Given the description of an element on the screen output the (x, y) to click on. 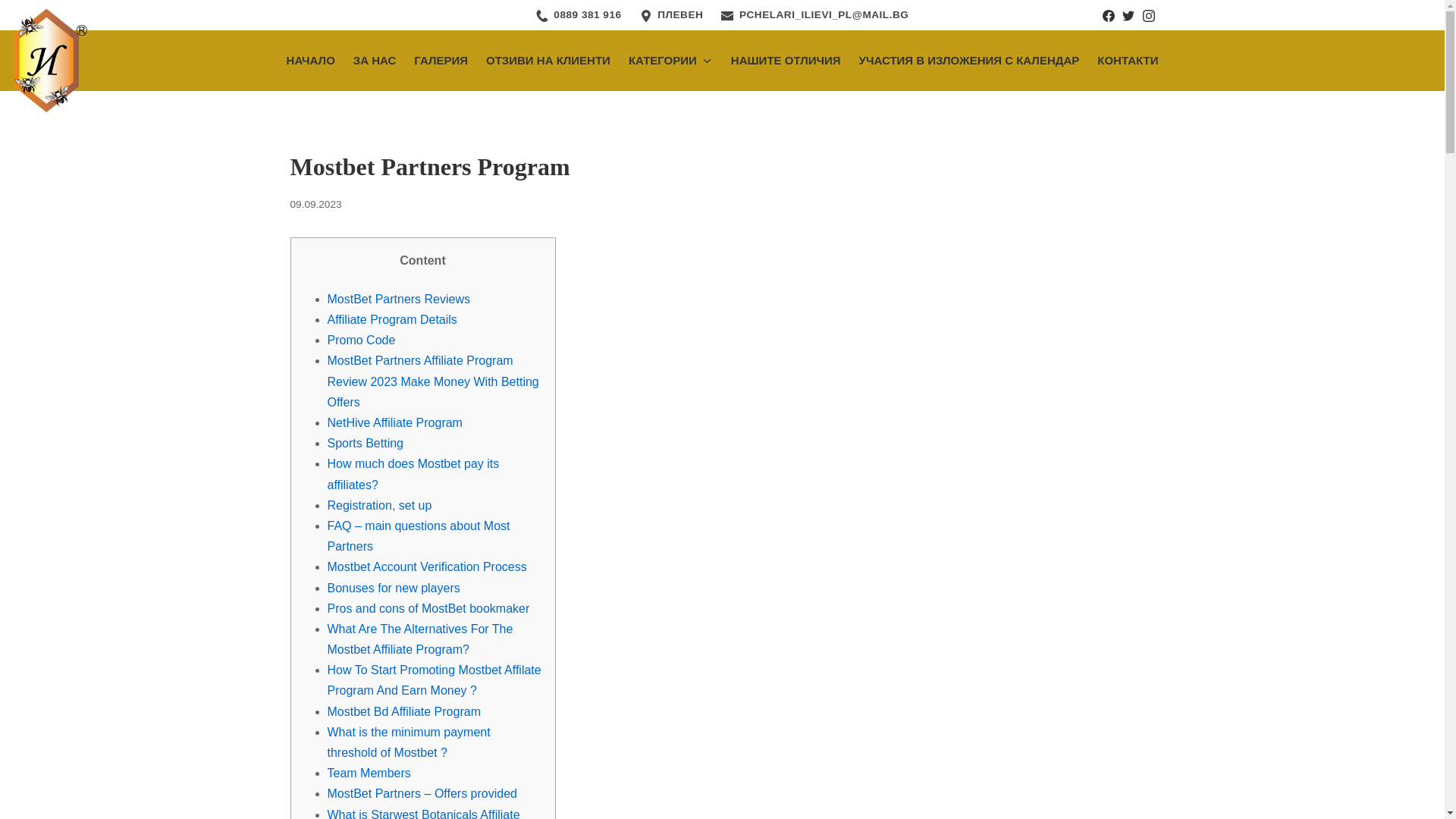
MostBet Partners Reviews (398, 298)
Instagram (1148, 15)
Sports Betting (365, 442)
NetHive Affiliate Program (395, 422)
Affiliate Program Details (392, 318)
TWITTER ICON (1128, 15)
INSTAGRAM ICON (1148, 15)
Facebook (1108, 15)
Promo Code (361, 339)
09.09.2023 (314, 204)
Twitter (1128, 15)
